Given the description of an element on the screen output the (x, y) to click on. 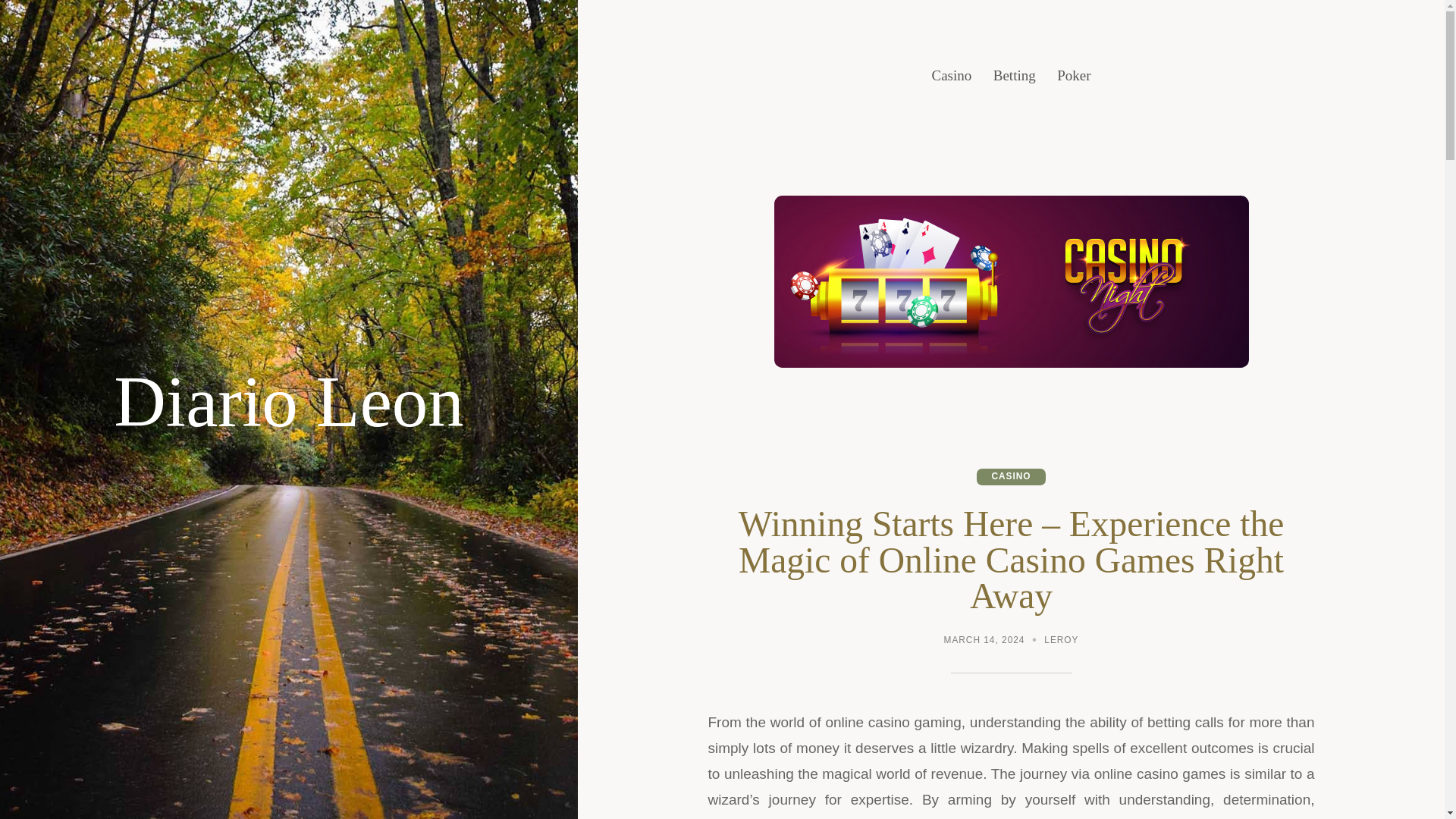
MARCH 14, 2024 (984, 641)
Poker (1073, 76)
LEROY (1060, 641)
CASINO (1010, 476)
Diario Leon (288, 402)
Casino (951, 76)
Betting (1013, 76)
